Given the description of an element on the screen output the (x, y) to click on. 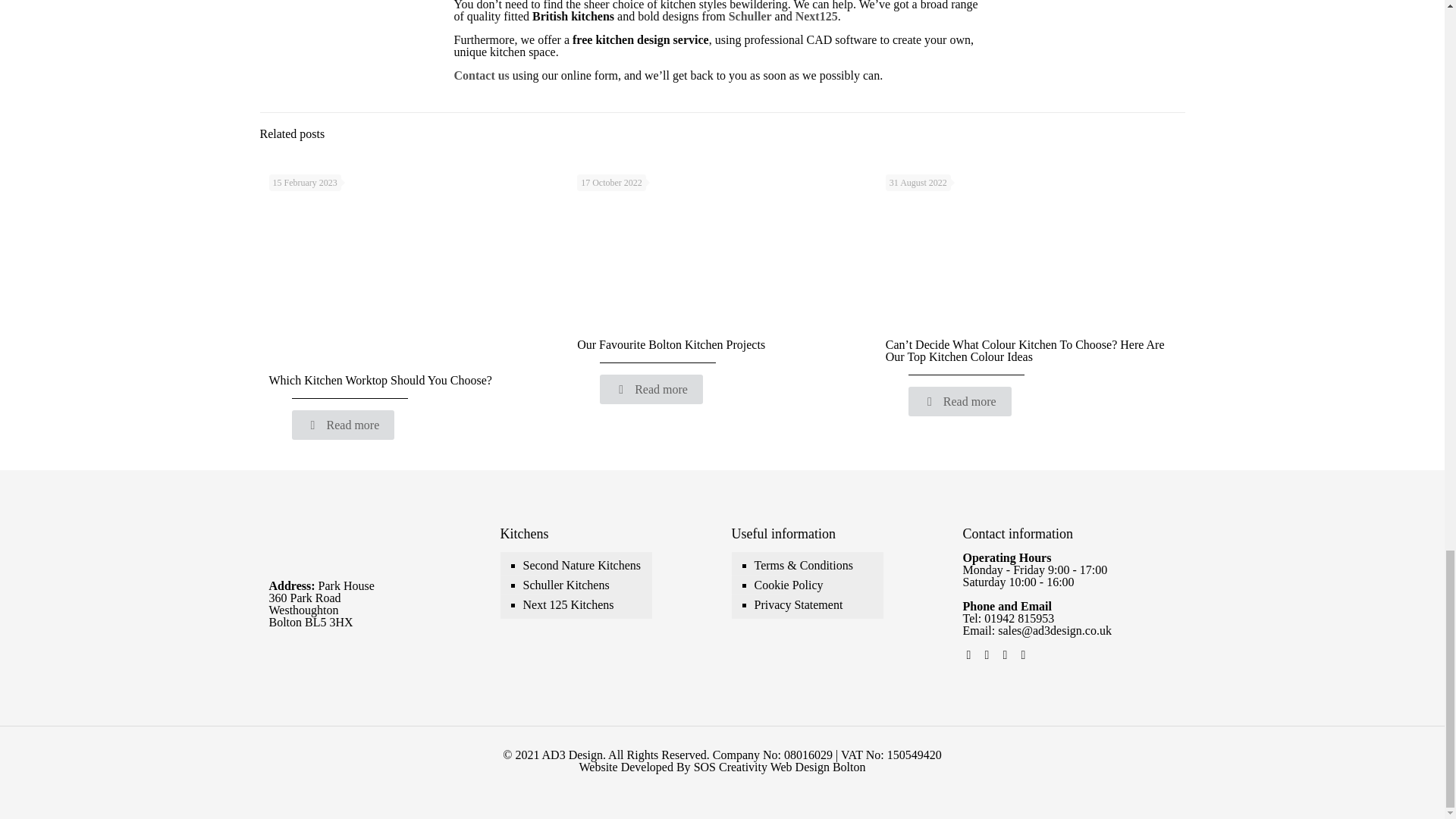
Contact us (480, 74)
Next125 (816, 15)
Read more (342, 424)
Our Favourite Bolton Kitchen Projects (670, 344)
Read more (651, 389)
Schuller (750, 15)
Which Kitchen Worktop Should You Choose? (379, 379)
